Given the description of an element on the screen output the (x, y) to click on. 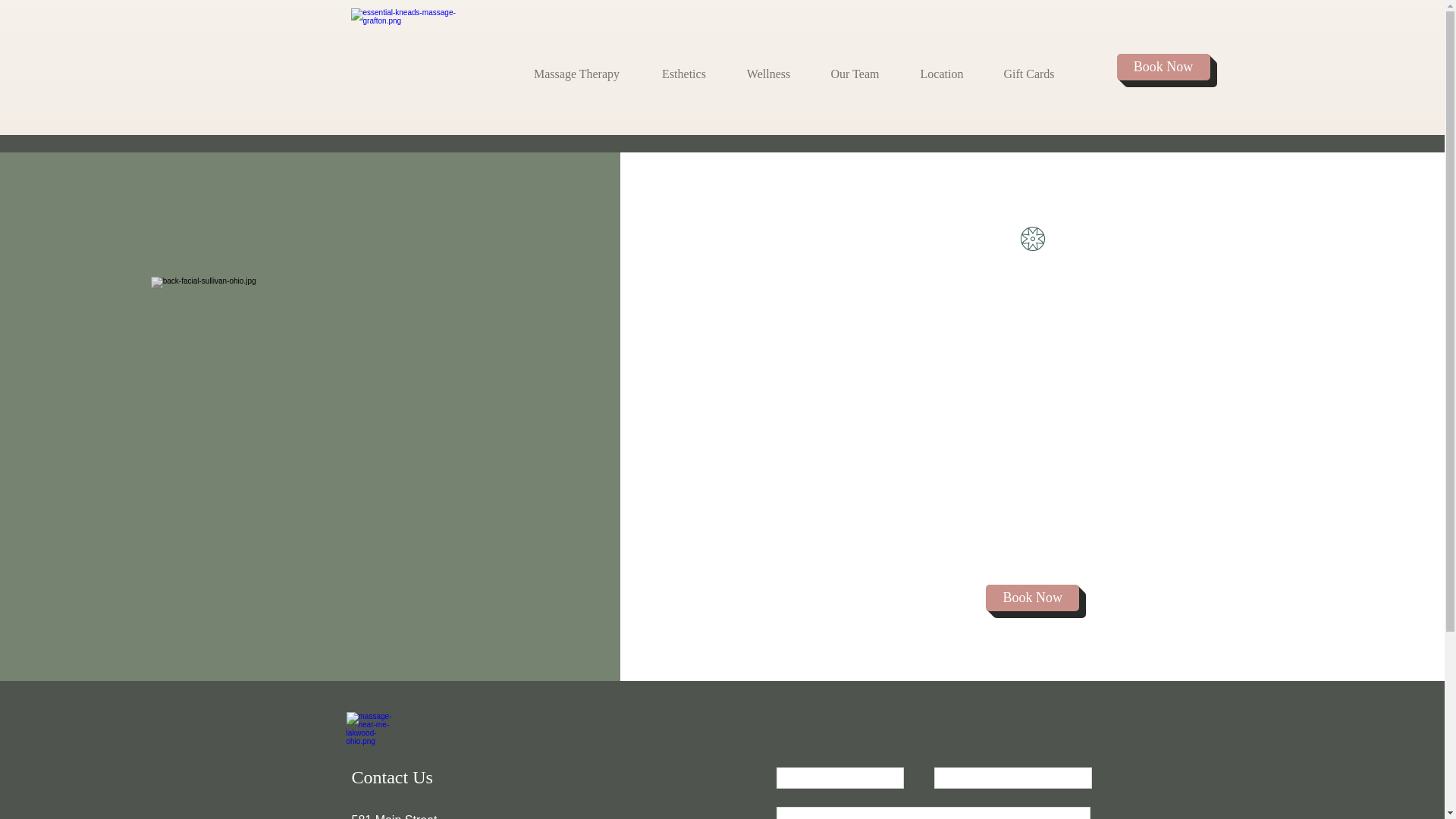
Massage Therapy (577, 67)
Esthetics (684, 67)
Gift Cards (1029, 67)
Location (941, 67)
Book Now (1031, 597)
Book Now (1162, 67)
Our Team (854, 67)
Wellness (767, 67)
